Given the description of an element on the screen output the (x, y) to click on. 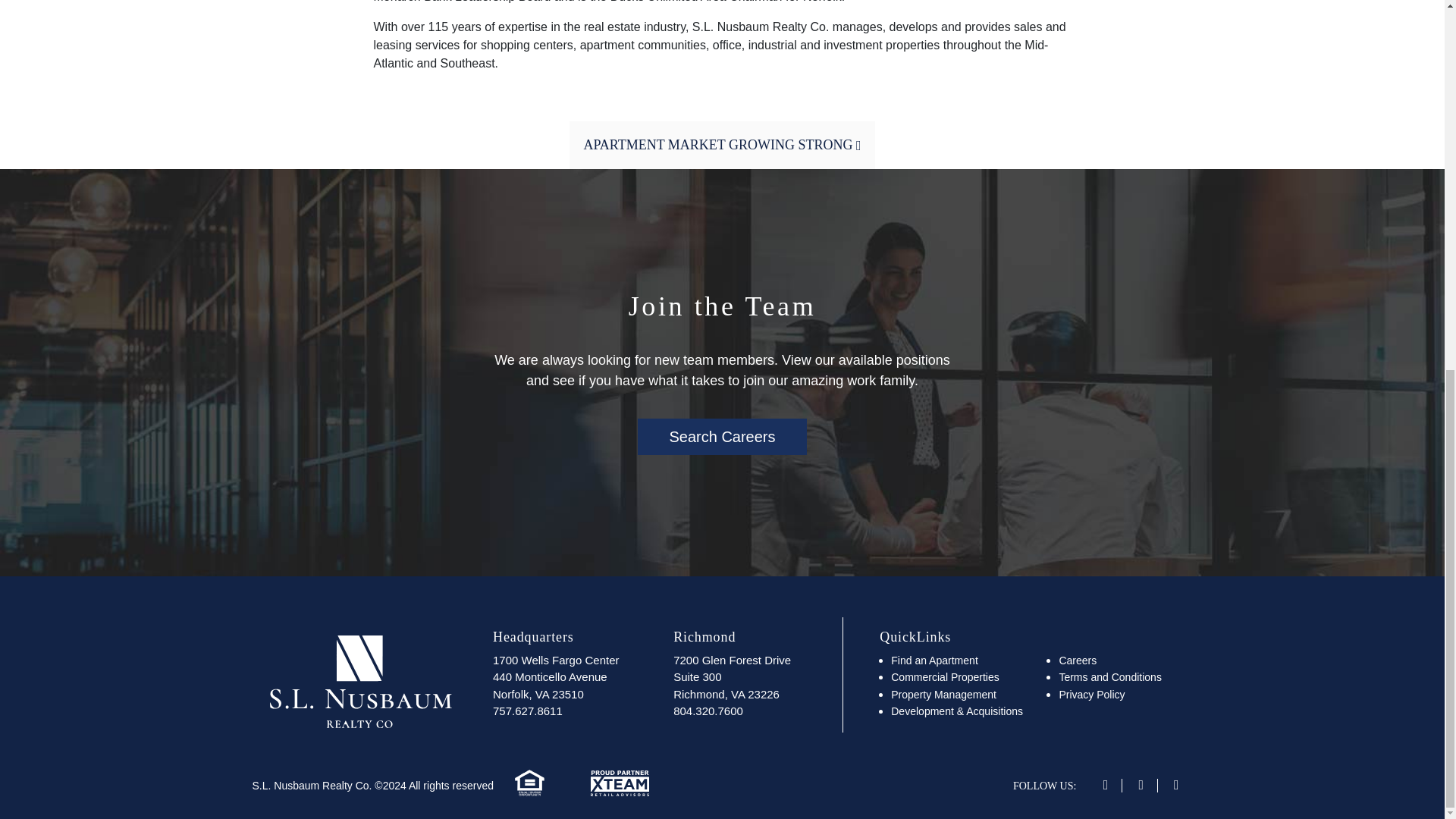
APARTMENT MARKET GROWING STRONG  (731, 677)
Commercial Properties (722, 144)
Careers (944, 676)
Privacy Policy (1077, 660)
Find an Apartment (1091, 694)
Terms and Conditions (934, 660)
Property Management (1109, 676)
Search Careers (943, 694)
